Given the description of an element on the screen output the (x, y) to click on. 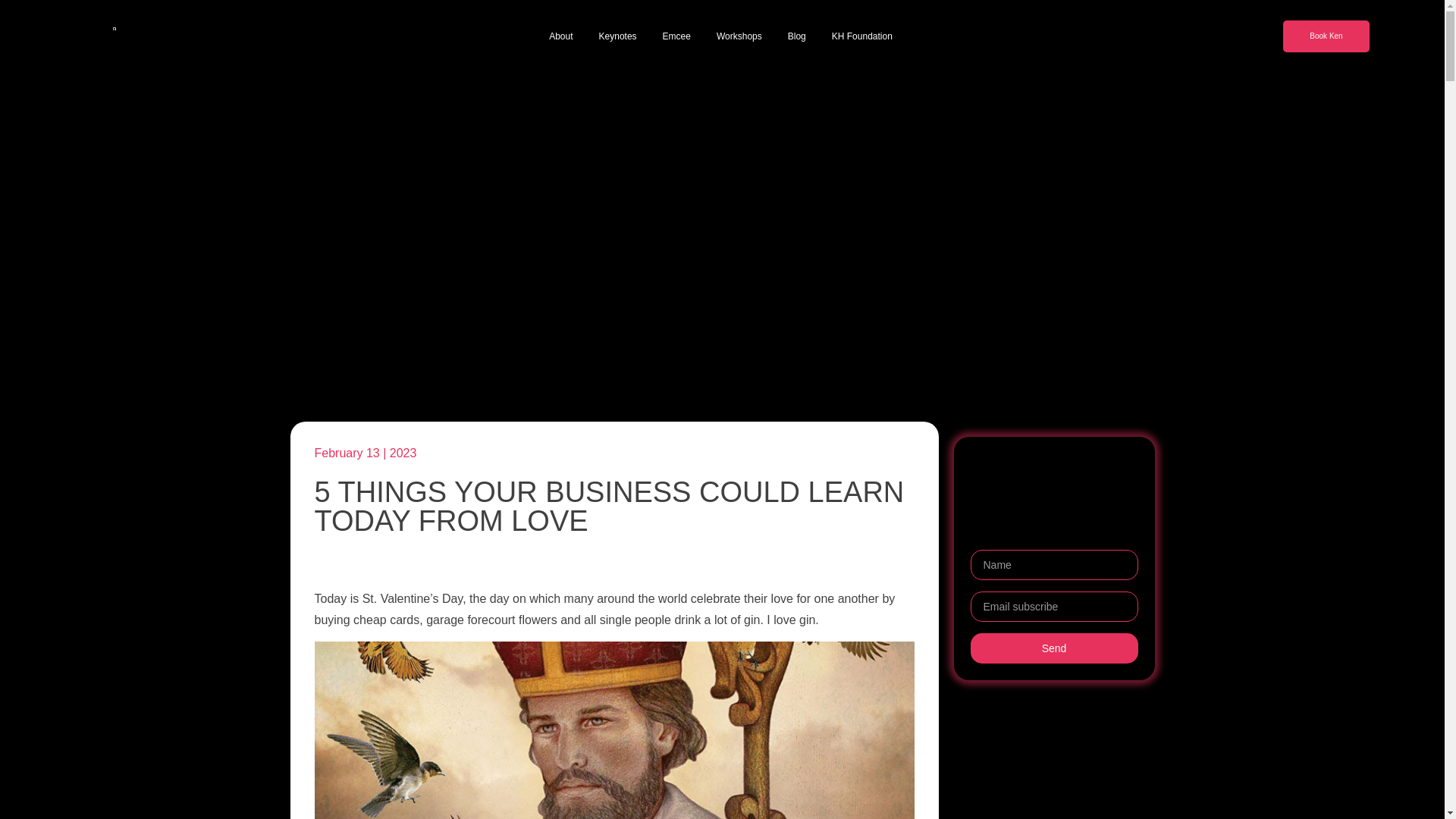
Blog (796, 36)
Keynotes (617, 36)
Emcee (676, 36)
Workshops (738, 36)
About (560, 36)
KH Foundation (861, 36)
